Given the description of an element on the screen output the (x, y) to click on. 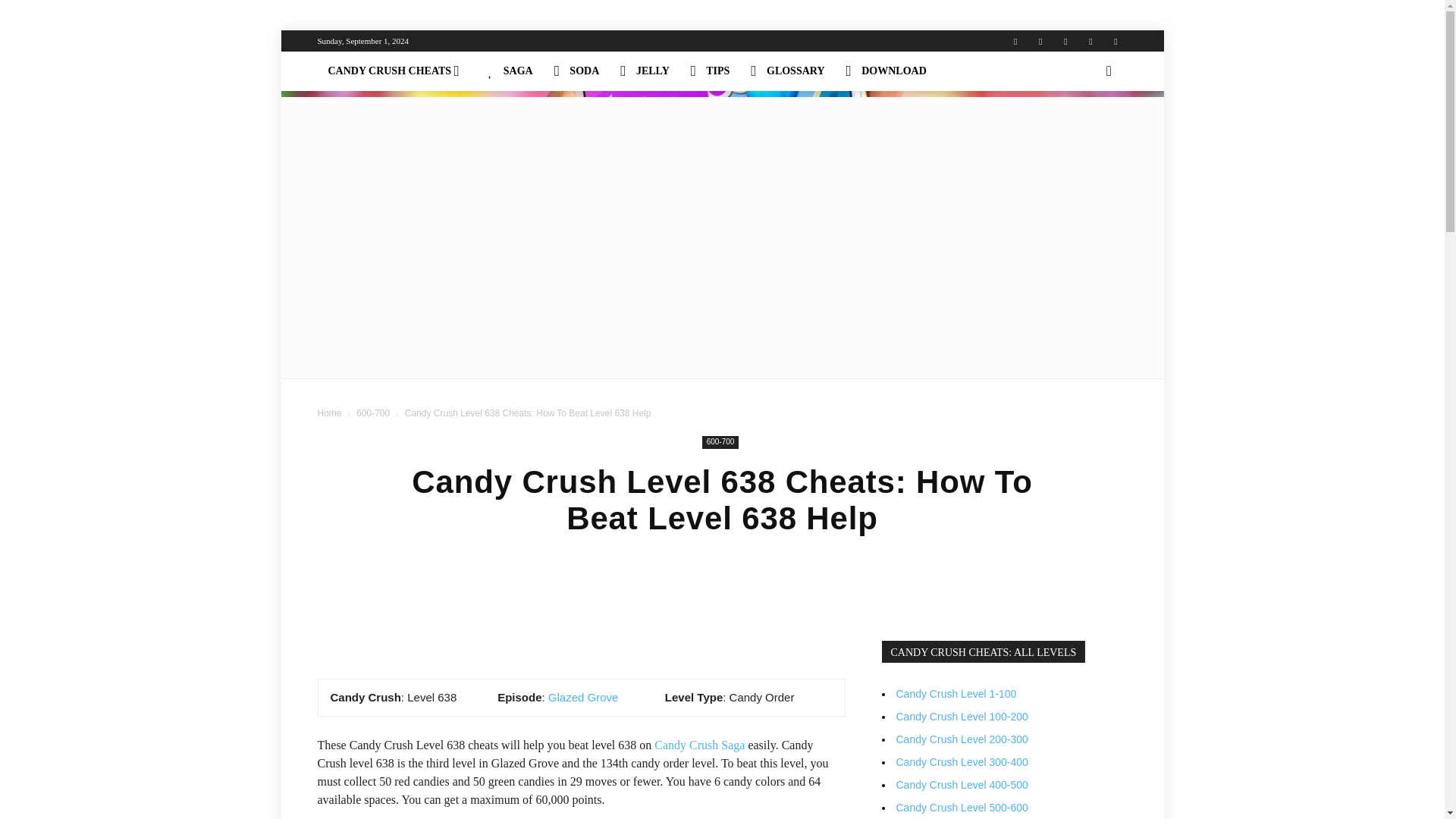
Facebook (1040, 40)
TIPS (710, 70)
SAGA (510, 70)
CANDY CRUSH CHEATS (397, 70)
Youtube (1114, 40)
Candy Crush Saga Cheats (510, 70)
GLOSSARY (786, 70)
SODA (576, 70)
Evernote (1015, 40)
Candy Crush Cheats All Levels (397, 70)
